Given the description of an element on the screen output the (x, y) to click on. 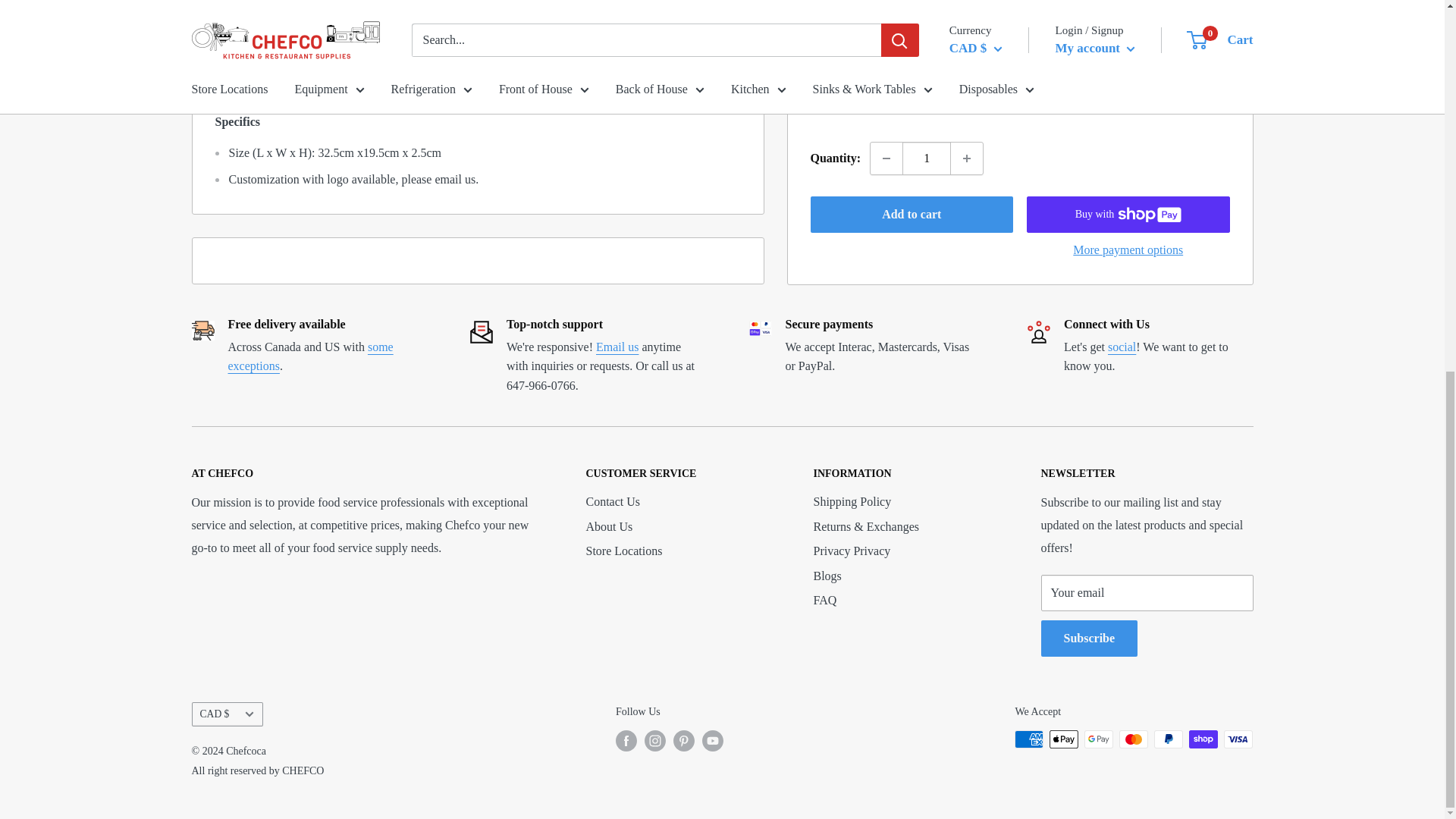
Shipping Policy (310, 356)
